Given the description of an element on the screen output the (x, y) to click on. 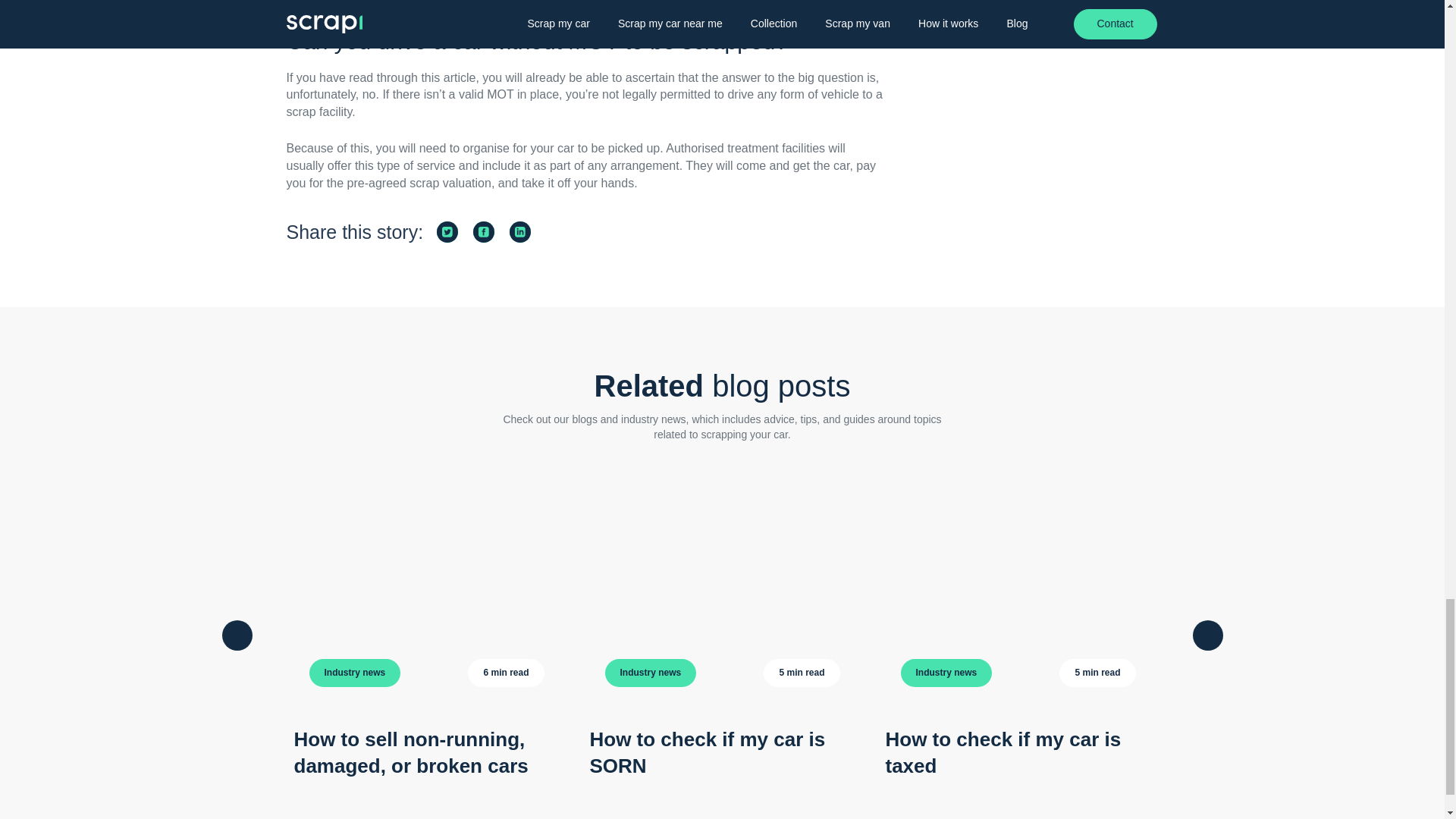
Industry news (651, 673)
How to check if my car is SORN (707, 752)
Industry news (946, 673)
Industry news (354, 673)
How to sell non-running, damaged, or broken cars (411, 752)
Previous (236, 634)
How to check if my car is taxed (1003, 752)
